Given the description of an element on the screen output the (x, y) to click on. 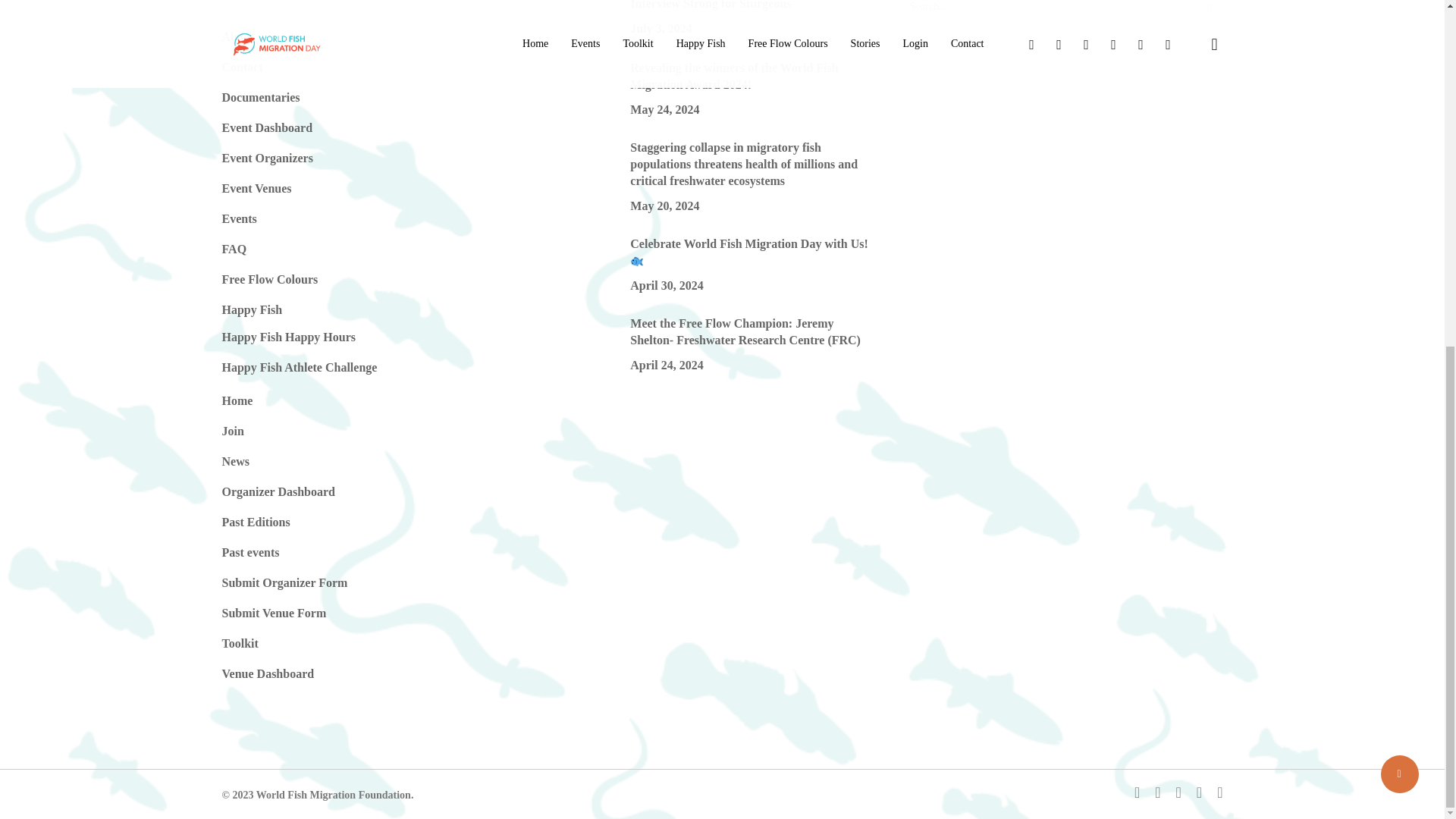
Search for: (1062, 12)
Documentaries (260, 97)
About (237, 36)
Event Organizers (267, 157)
Event Dashboard (267, 127)
Contact (241, 66)
